Given the description of an element on the screen output the (x, y) to click on. 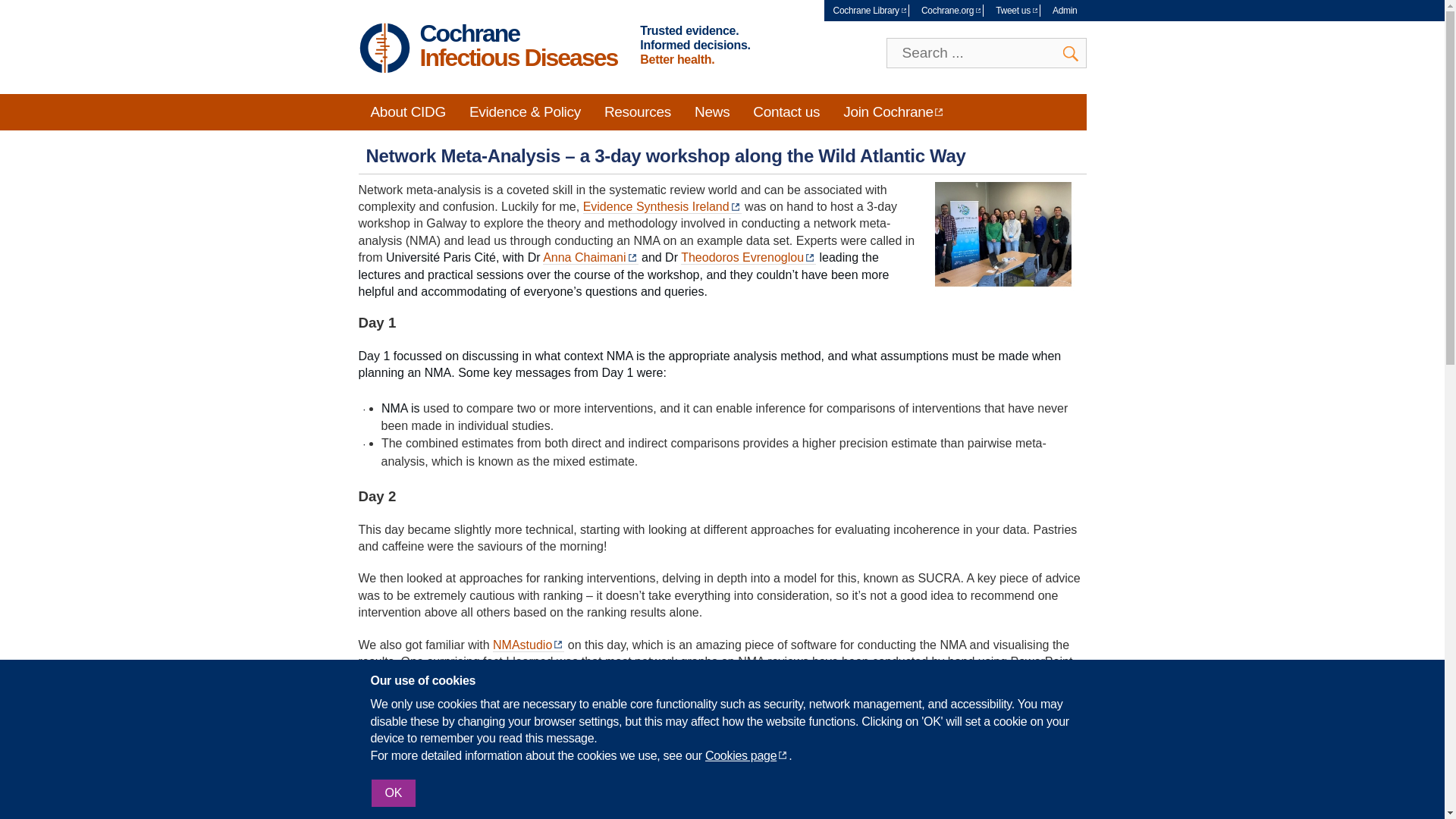
Admin (1064, 10)
Resources (637, 112)
Home (384, 49)
Search (1071, 53)
Opens in new window (746, 755)
Home (518, 45)
News (711, 112)
Tweet us (1014, 10)
Cochrane.org (948, 10)
